Given the description of an element on the screen output the (x, y) to click on. 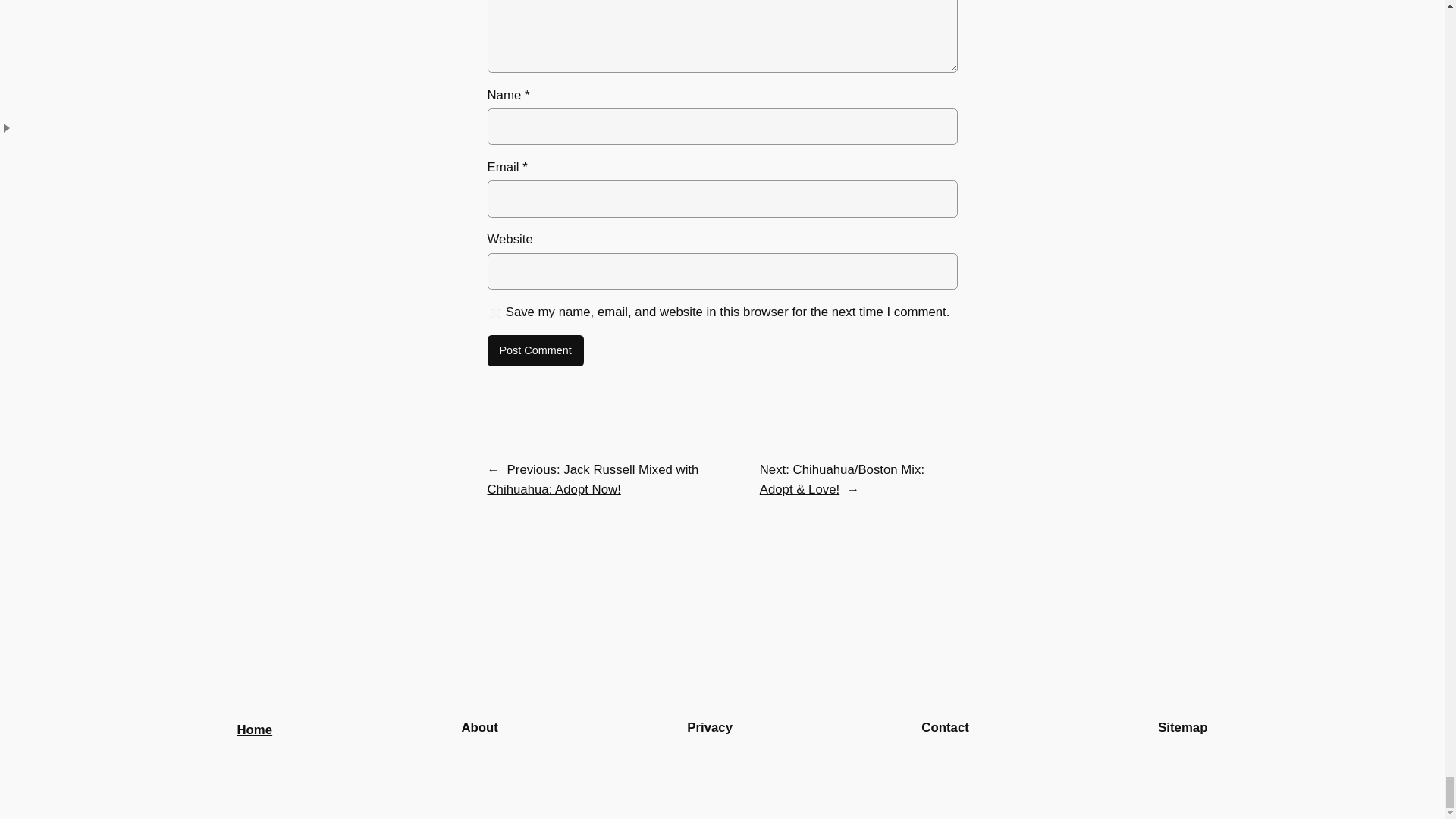
Post Comment (534, 350)
